Given the description of an element on the screen output the (x, y) to click on. 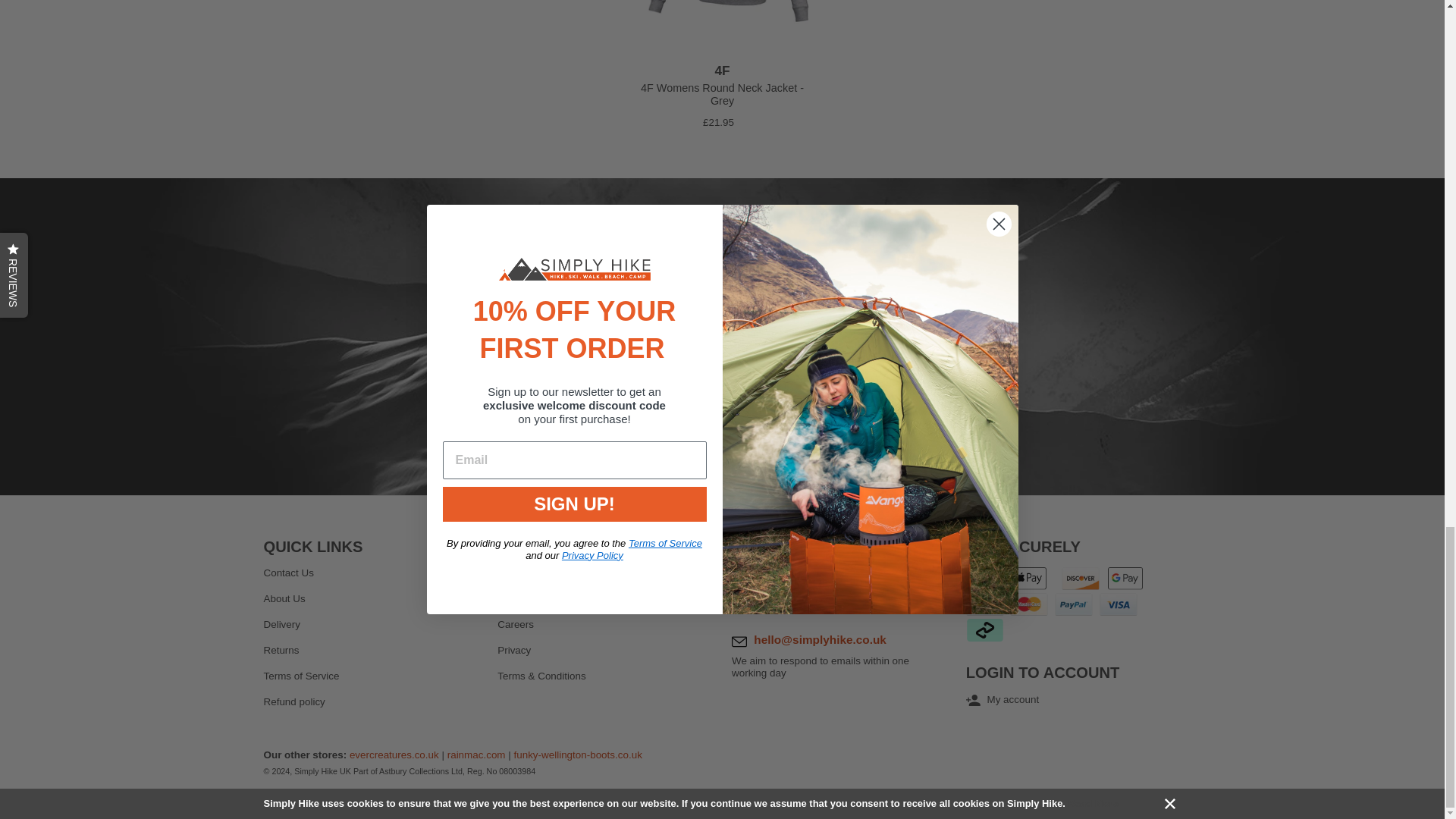
Simply Hike UK on YouTube (788, 424)
Simply Hike UK on Facebook (655, 424)
Simply Hike UK on Instagram (744, 424)
Simply Hike UK on Twitter (699, 424)
